Given the description of an element on the screen output the (x, y) to click on. 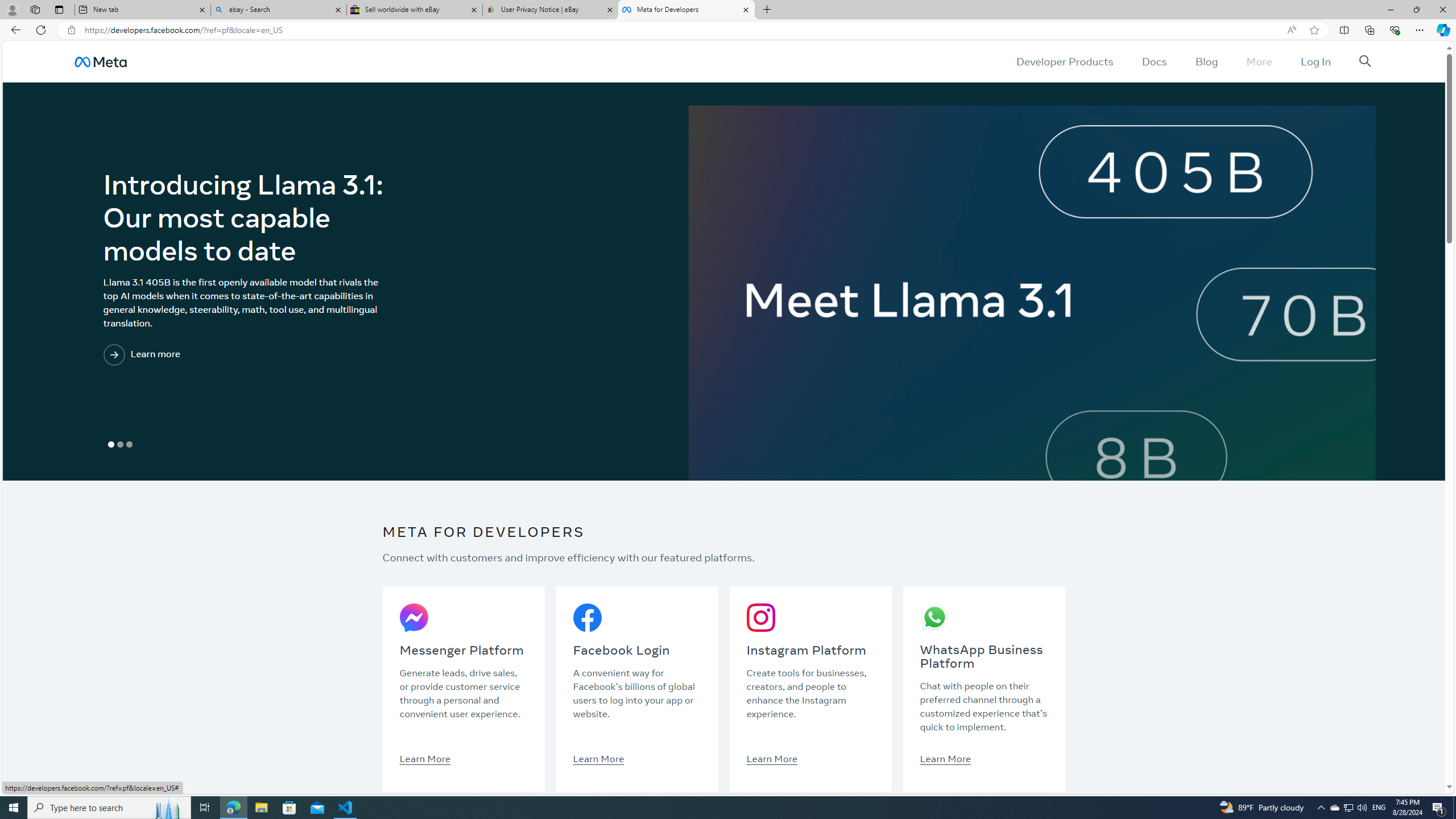
Log In (1315, 61)
AutomationID: u_0_25_3H (100, 61)
Show Slide 3 (128, 444)
Show Slide 1 (111, 444)
Developer Products (1064, 61)
More (1259, 61)
Blog (1205, 61)
